Given the description of an element on the screen output the (x, y) to click on. 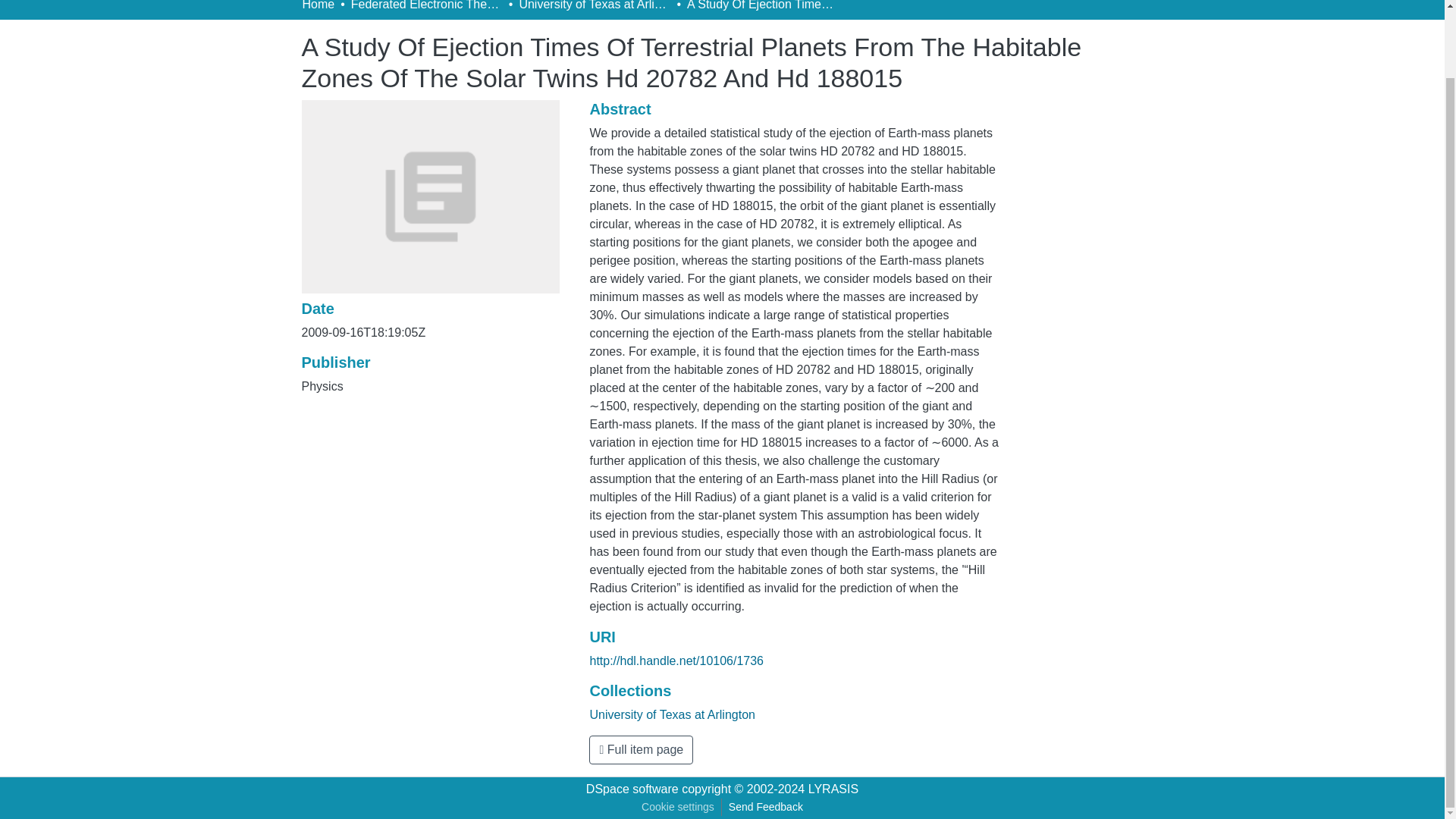
Federated Electronic Theses and Dissertations (426, 6)
Home (317, 6)
Full item page (641, 749)
Cookie settings (677, 806)
DSpace software (632, 788)
Send Feedback (765, 806)
University of Texas at Arlington (593, 6)
LYRASIS (833, 788)
University of Texas at Arlington (671, 714)
